Given the description of an element on the screen output the (x, y) to click on. 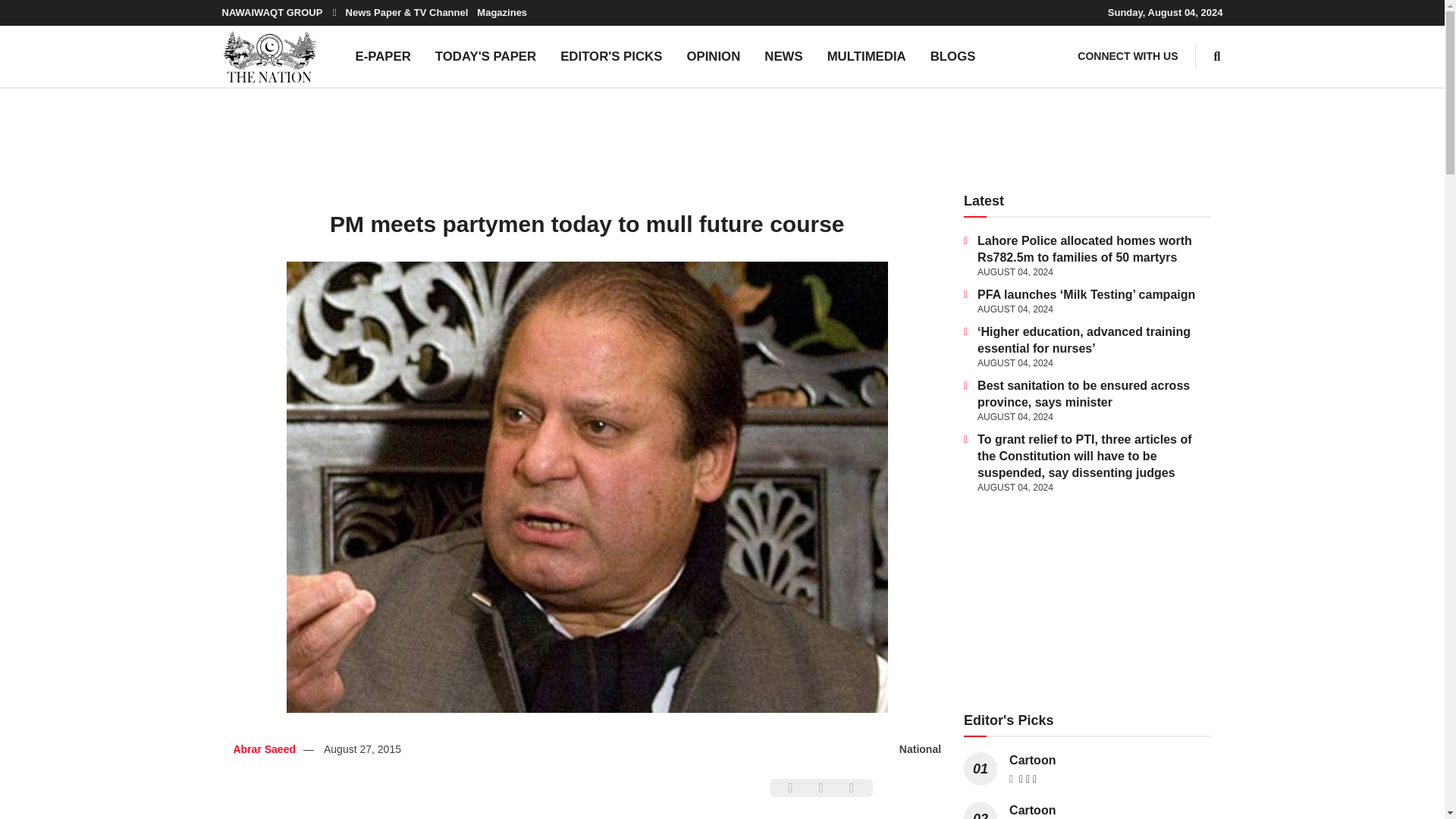
BLOGS (953, 55)
NEWS (782, 55)
E-PAPER (382, 55)
Magazines (502, 12)
EDITOR'S PICKS (611, 55)
TODAY'S PAPER (485, 55)
MULTIMEDIA (866, 55)
OPINION (713, 55)
